Given the description of an element on the screen output the (x, y) to click on. 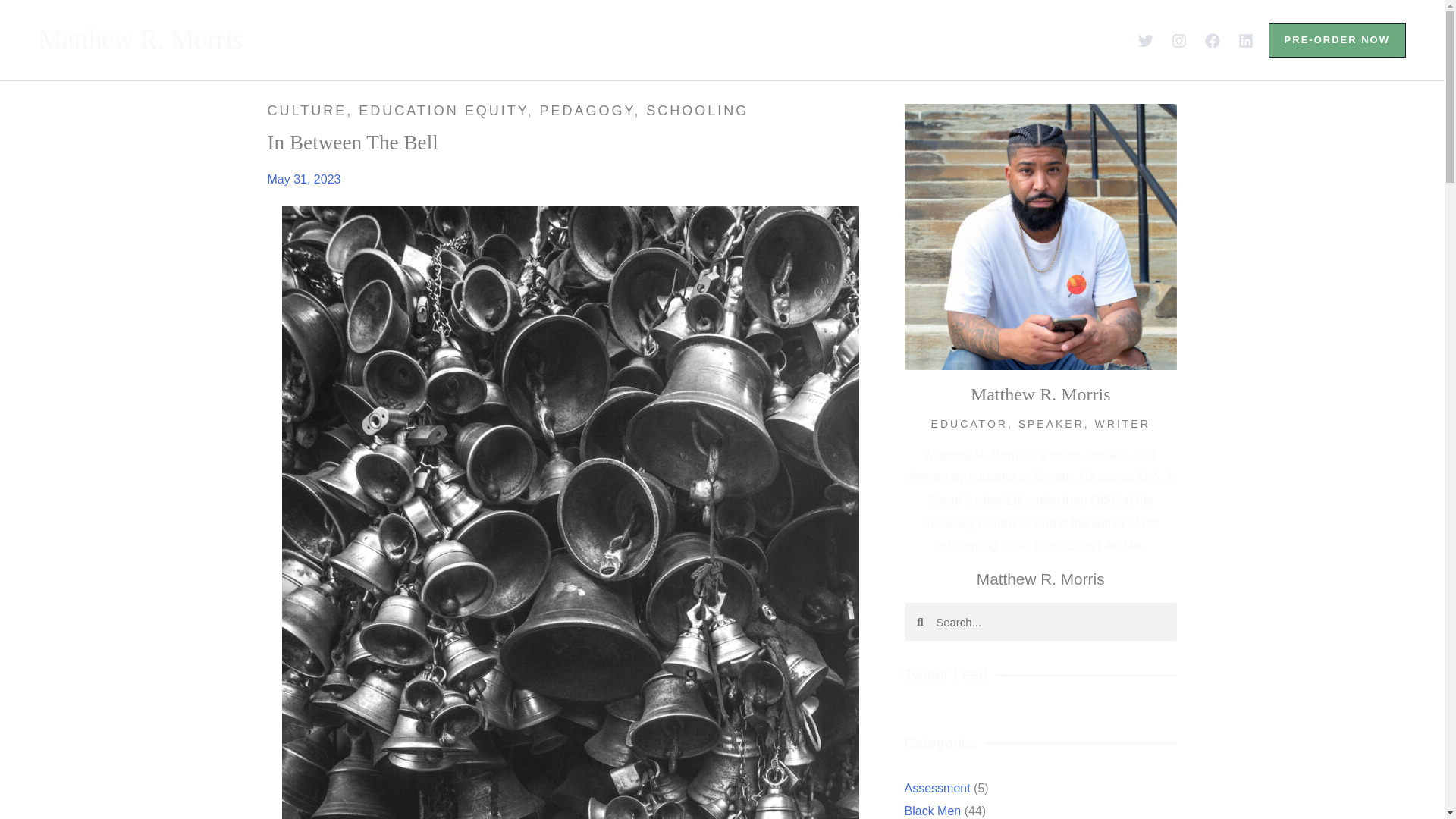
Assessment (941, 788)
BLOG (775, 39)
ABOUT (481, 39)
Black Men (935, 810)
PRESS (856, 39)
BLACK BOYS LIKE ME (631, 39)
PRE-ORDER NOW (1337, 39)
CONTACT (953, 39)
Matthew R. Morris (141, 39)
